Given the description of an element on the screen output the (x, y) to click on. 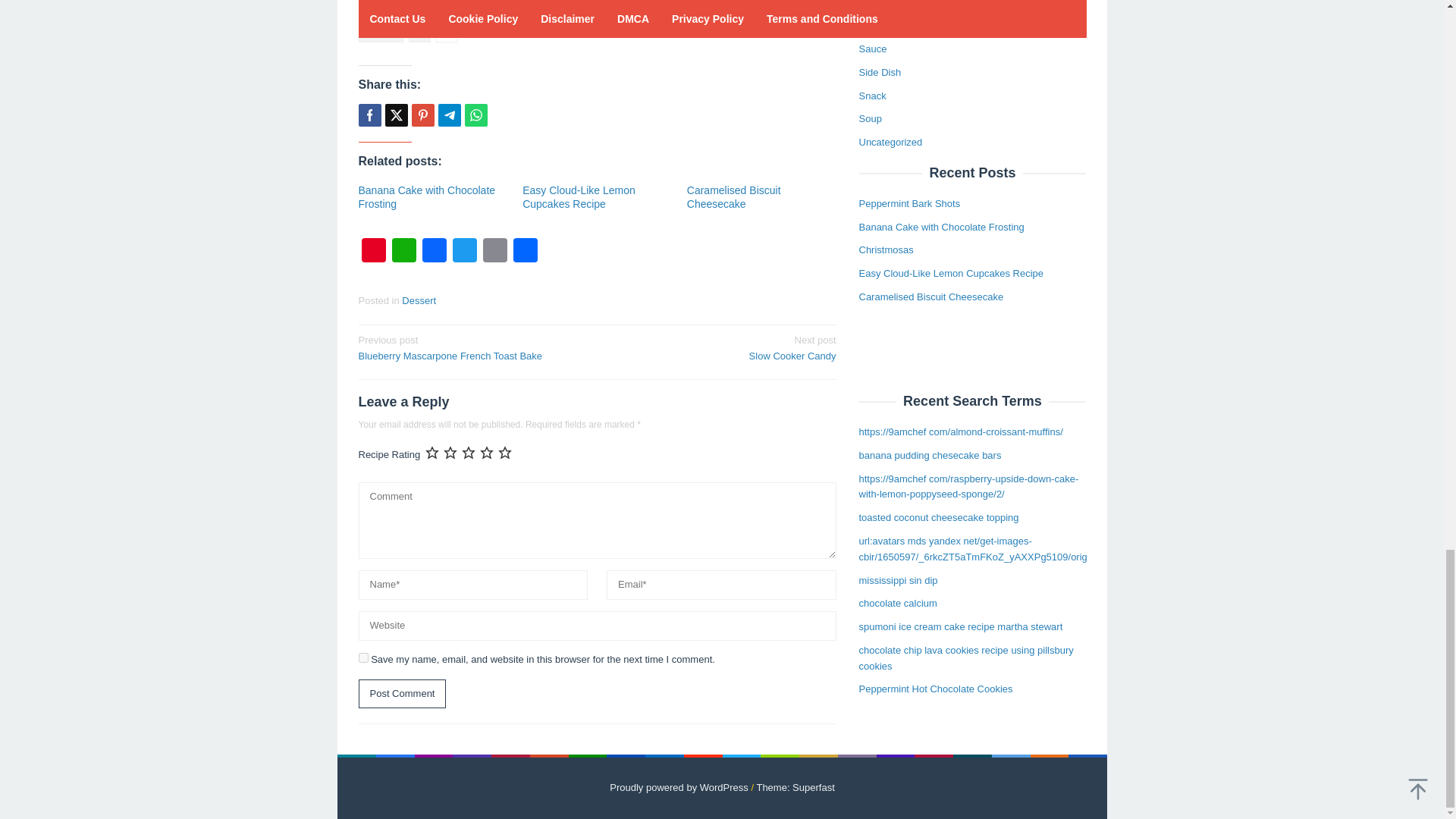
Permalink to: Easy Cloud-Like Lemon Cupcakes Recipe (578, 196)
WhatsApp (403, 252)
Facebook (433, 252)
Share this (369, 115)
yes (472, 346)
2 (363, 657)
Post Comment (446, 30)
Whatsapp (401, 694)
Permalink to: Banana Cake with Chocolate Frosting (475, 115)
